Given the description of an element on the screen output the (x, y) to click on. 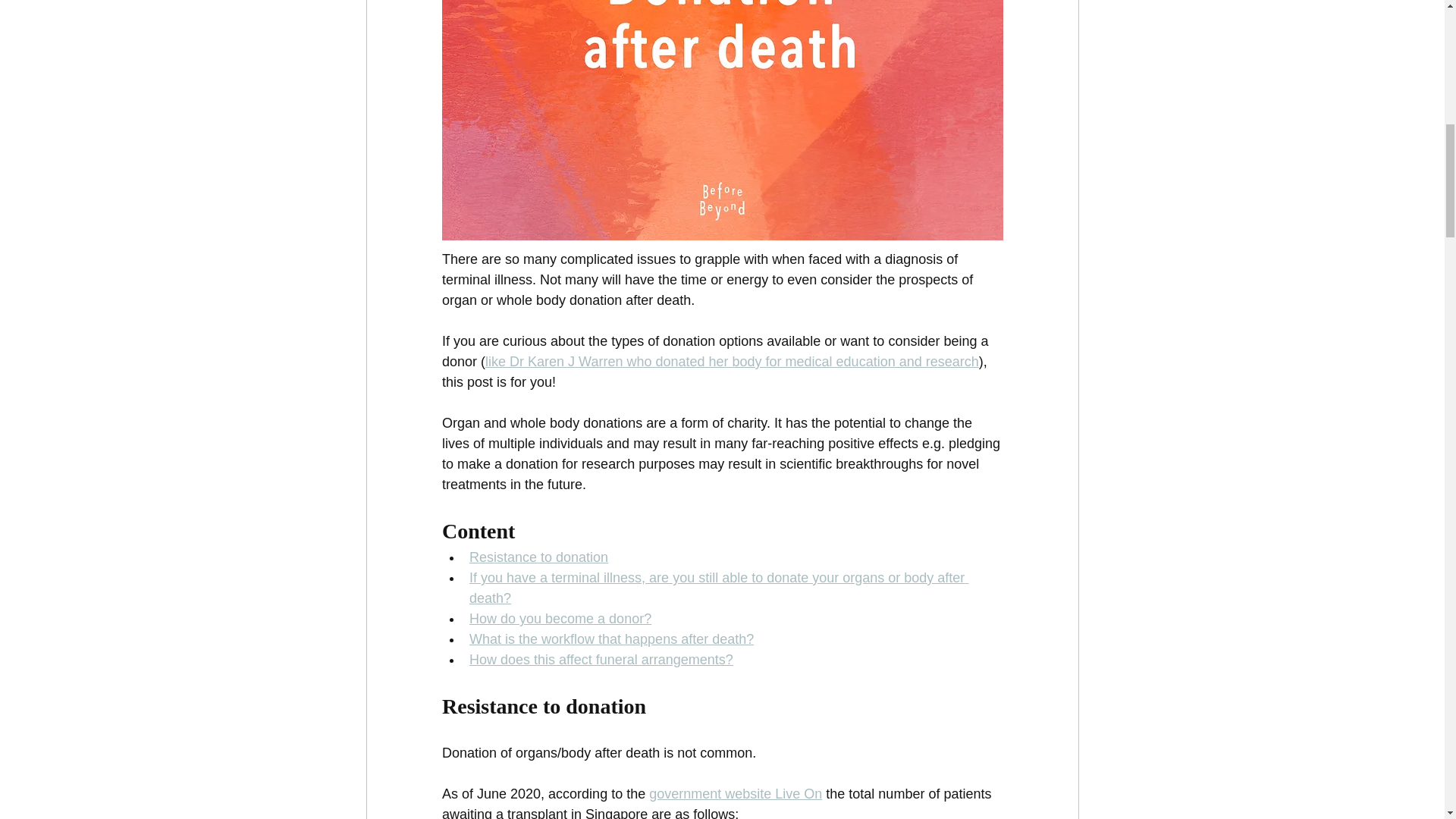
Resistance to donation (537, 557)
How do you become a donor? (559, 618)
government website Live On (735, 793)
How does this affect funeral arrangements? (600, 659)
What is the workflow that happens after death? (610, 639)
